Given the description of an element on the screen output the (x, y) to click on. 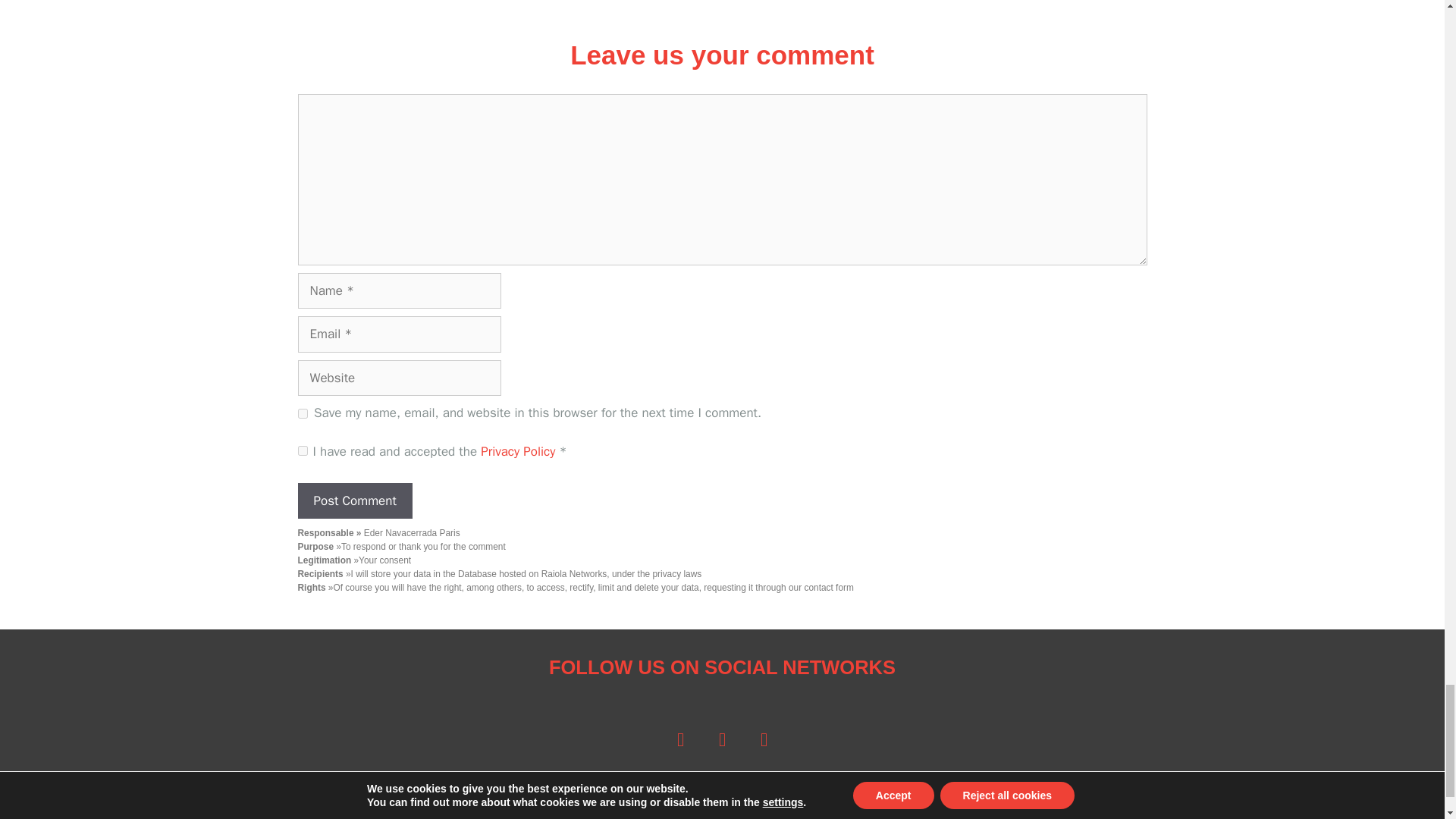
policy-key (302, 450)
Post Comment (354, 501)
Privacy Policy (519, 451)
Post Comment (354, 501)
yes (302, 413)
